Given the description of an element on the screen output the (x, y) to click on. 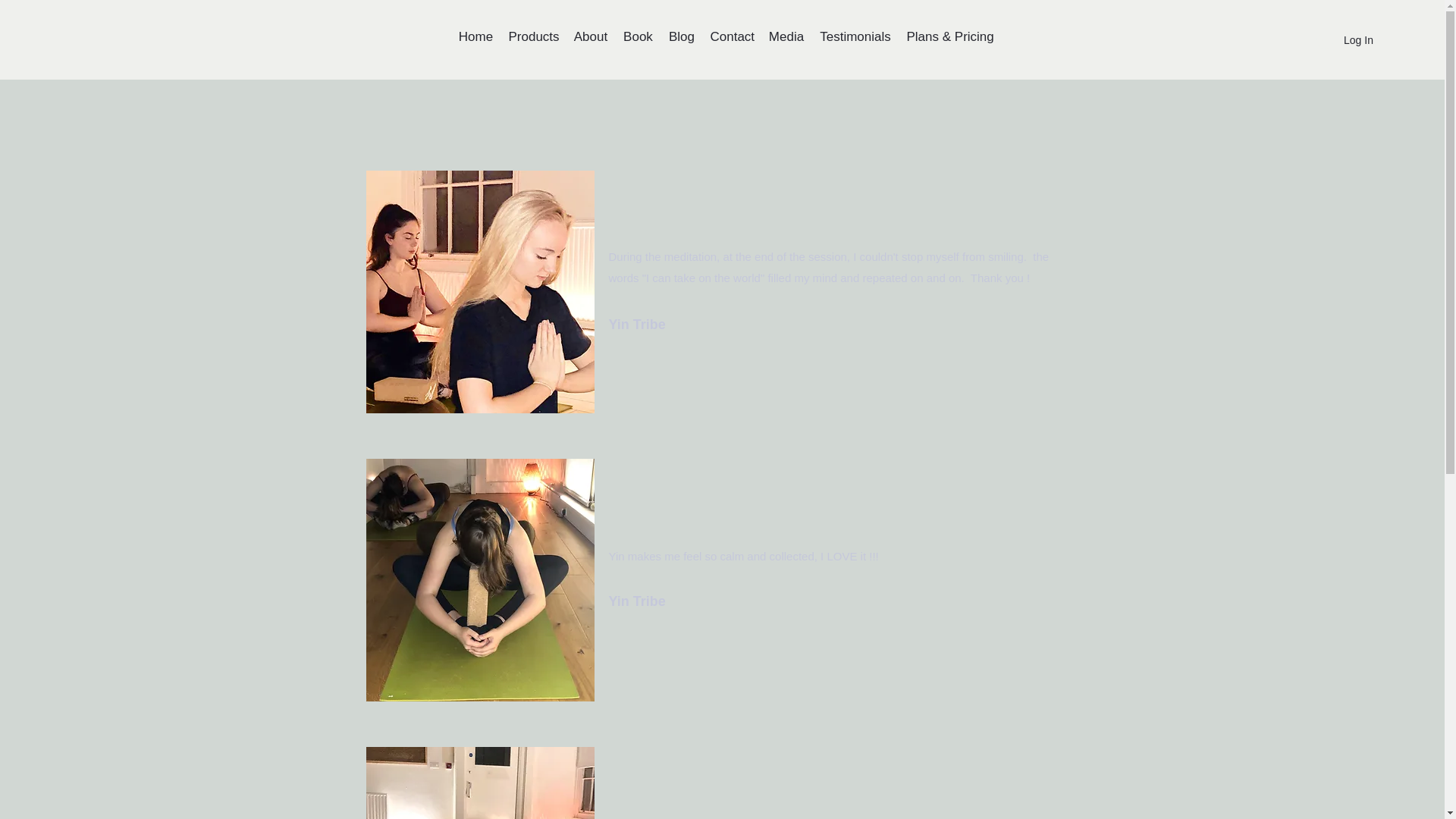
About (590, 36)
Log In (1345, 40)
Products (533, 36)
Contact (730, 36)
Testimonials (854, 36)
Home (474, 36)
Book (637, 36)
Media (785, 36)
Blog (681, 36)
